Given the description of an element on the screen output the (x, y) to click on. 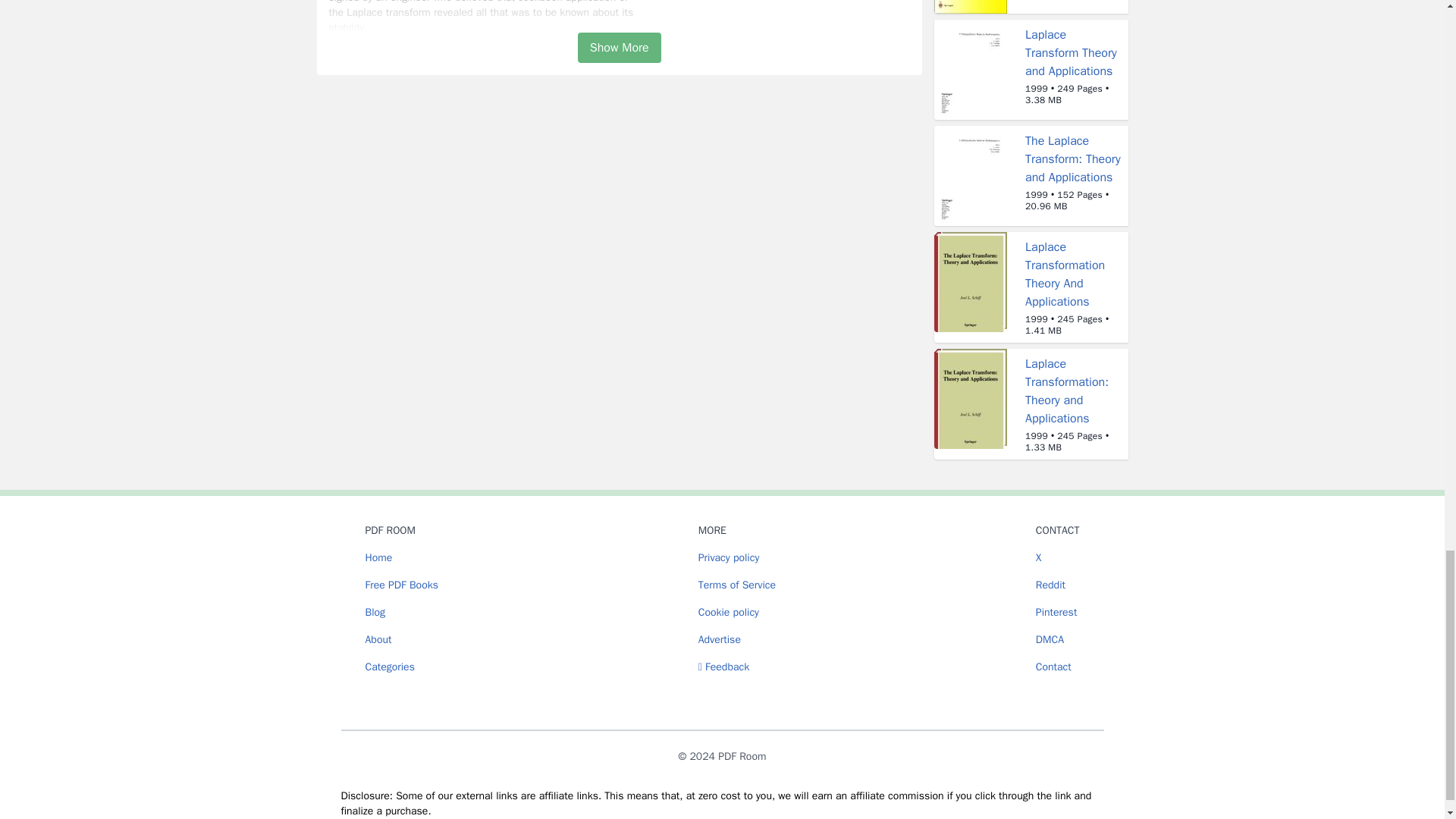
Laplace Transformation Theory And Applications (1065, 274)
Laplace Transform Theory and Applications (1070, 52)
The Laplace Transform: Theory and Applications (1073, 159)
Laplace Transformation: Theory and Applications (1066, 390)
